Given the description of an element on the screen output the (x, y) to click on. 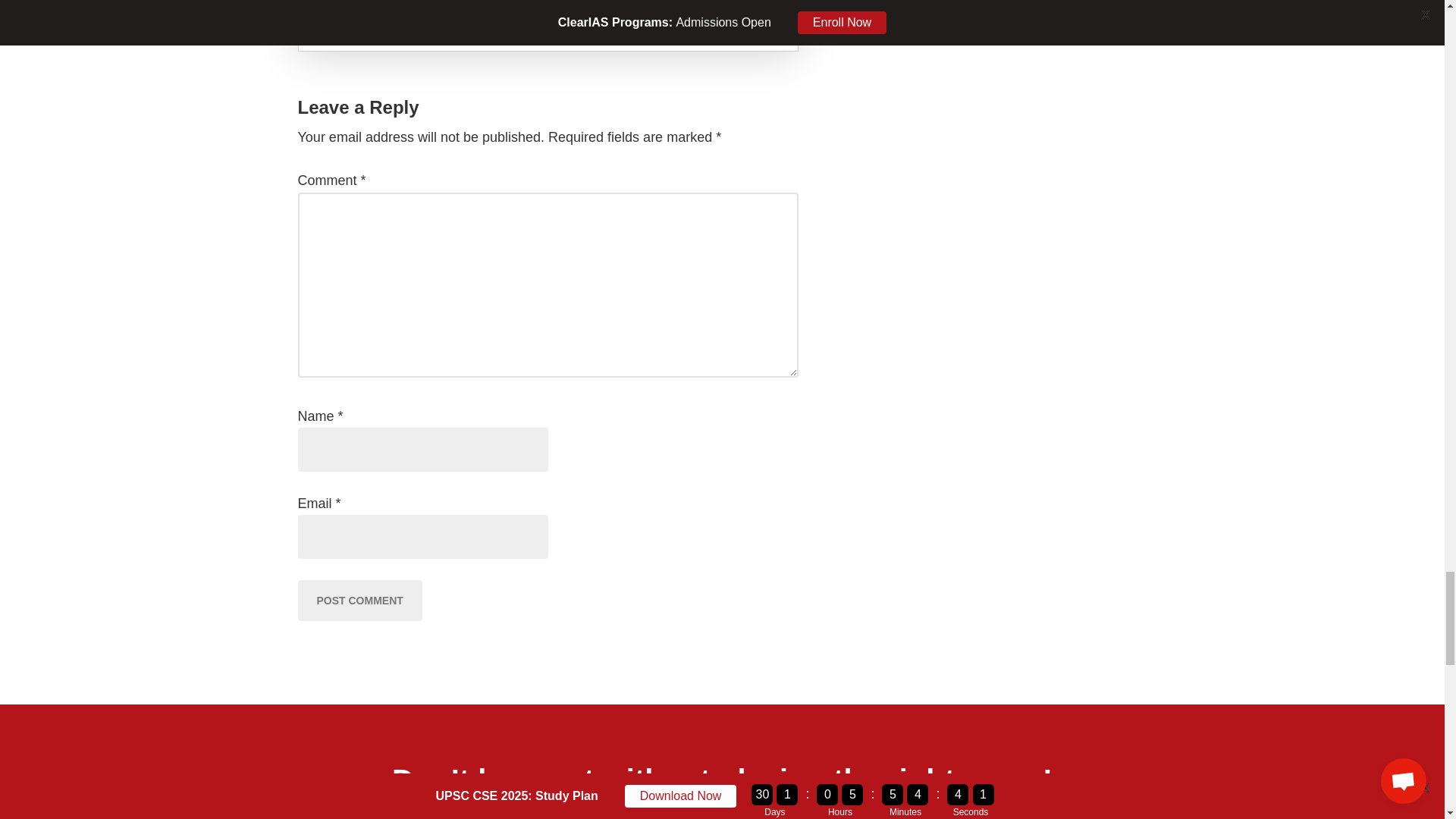
Post Comment (359, 599)
